Given the description of an element on the screen output the (x, y) to click on. 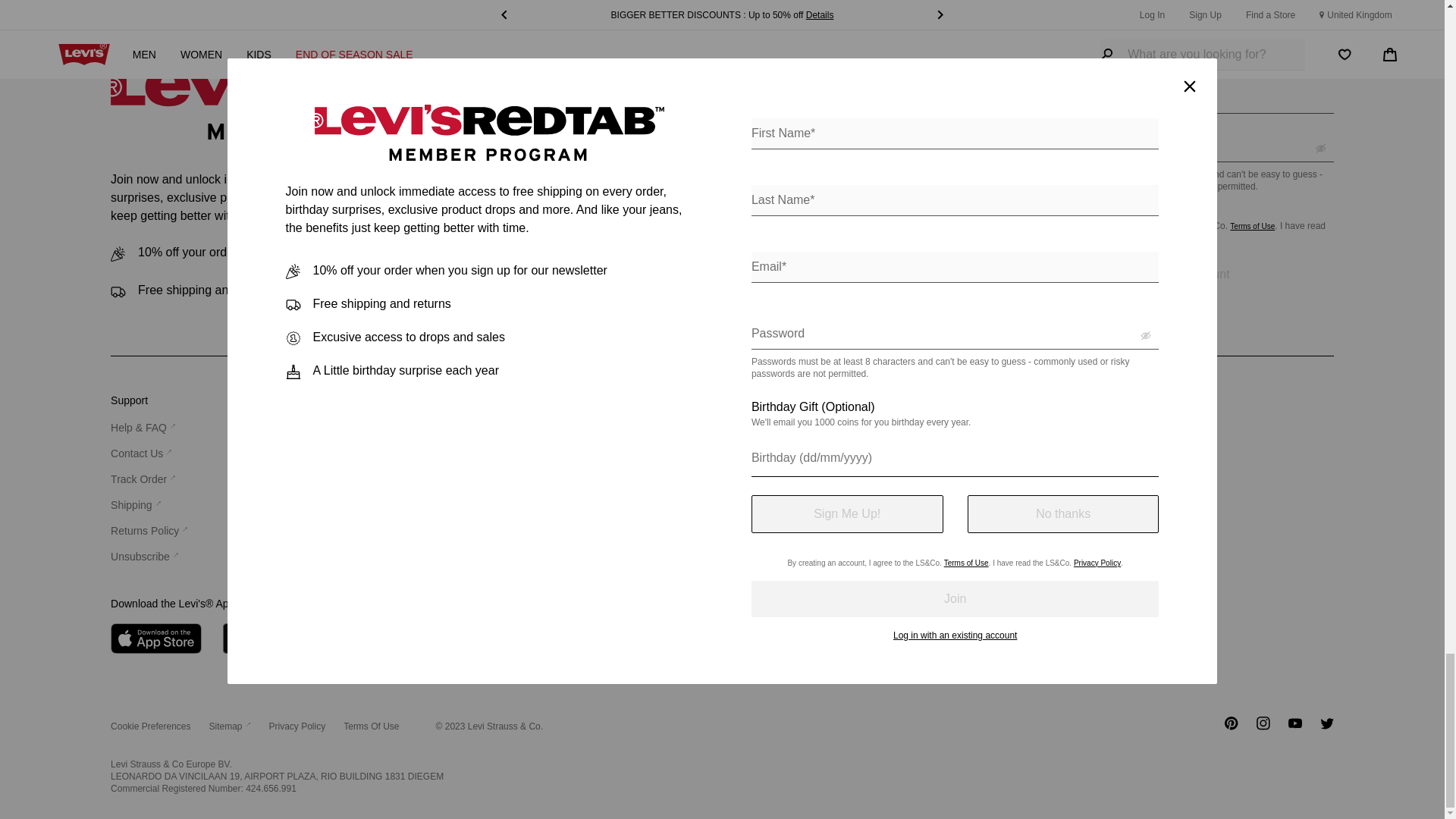
TikTok (1199, 728)
Google Play Download (273, 638)
Instagram (1262, 728)
YouTube (1294, 728)
Pinterest (1231, 728)
iOS App Store Download (156, 638)
Twitter (1326, 728)
